Given the description of an element on the screen output the (x, y) to click on. 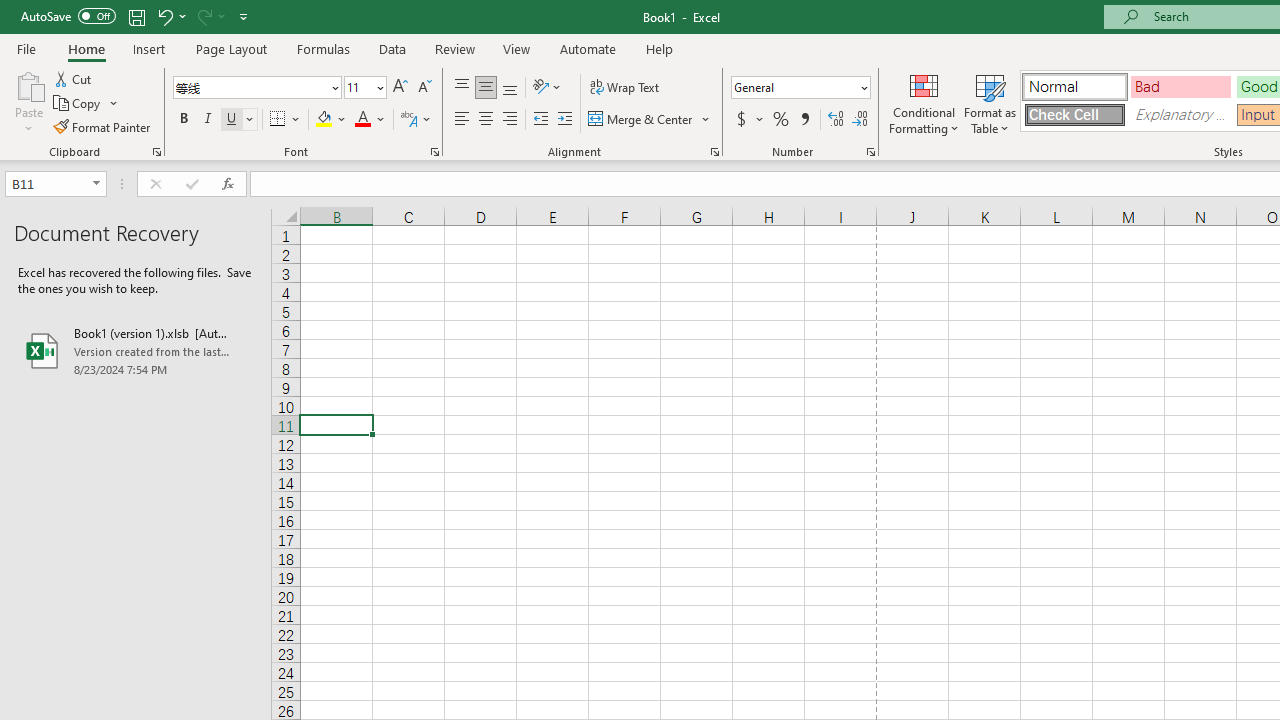
Office Clipboard... (156, 151)
Increase Decimal (836, 119)
Show Phonetic Field (416, 119)
Accounting Number Format (749, 119)
Align Right (509, 119)
Font (256, 87)
Decrease Decimal (859, 119)
